Given the description of an element on the screen output the (x, y) to click on. 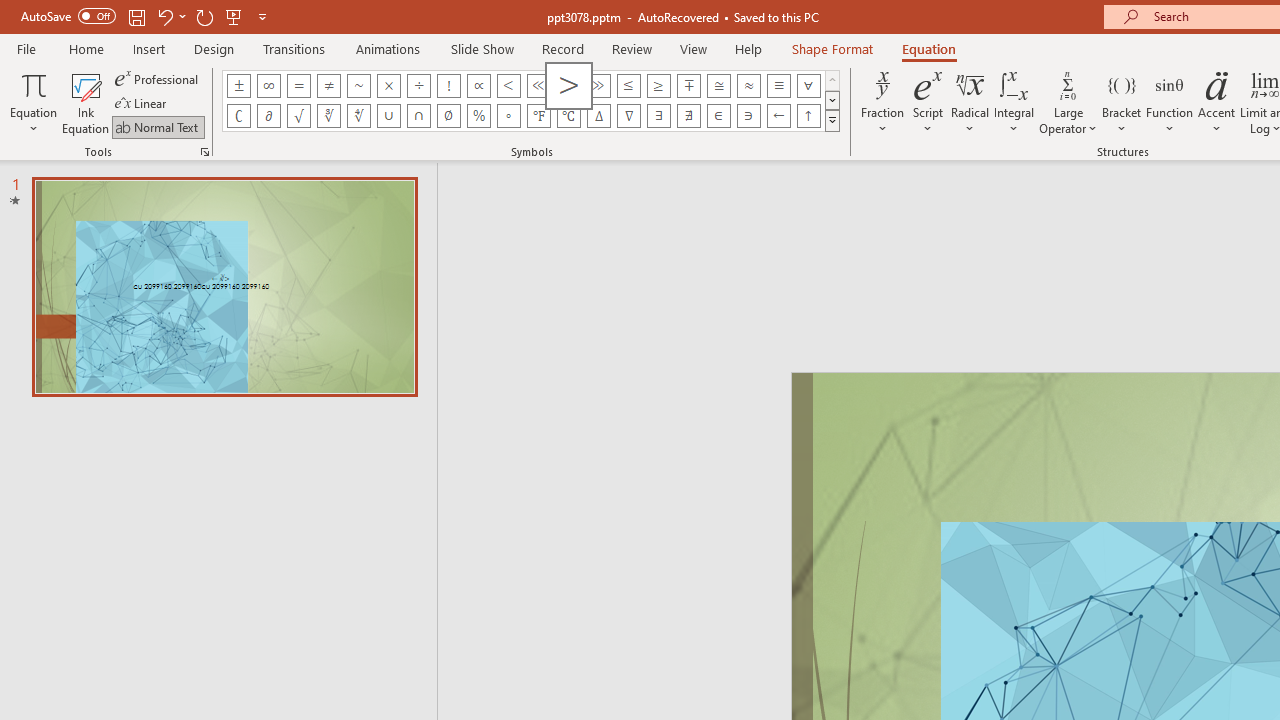
Equation Symbol Contains as Member (748, 115)
Equation Symbol Percentage (478, 115)
Equation Symbol Up Arrow (808, 115)
Equation Symbol Cube Root (328, 115)
Linear (142, 103)
Equation Symbol Proportional To (478, 85)
Equation Symbol Fourth Root (358, 115)
Function (1169, 102)
Equation Symbol Factorial (448, 85)
